Given the description of an element on the screen output the (x, y) to click on. 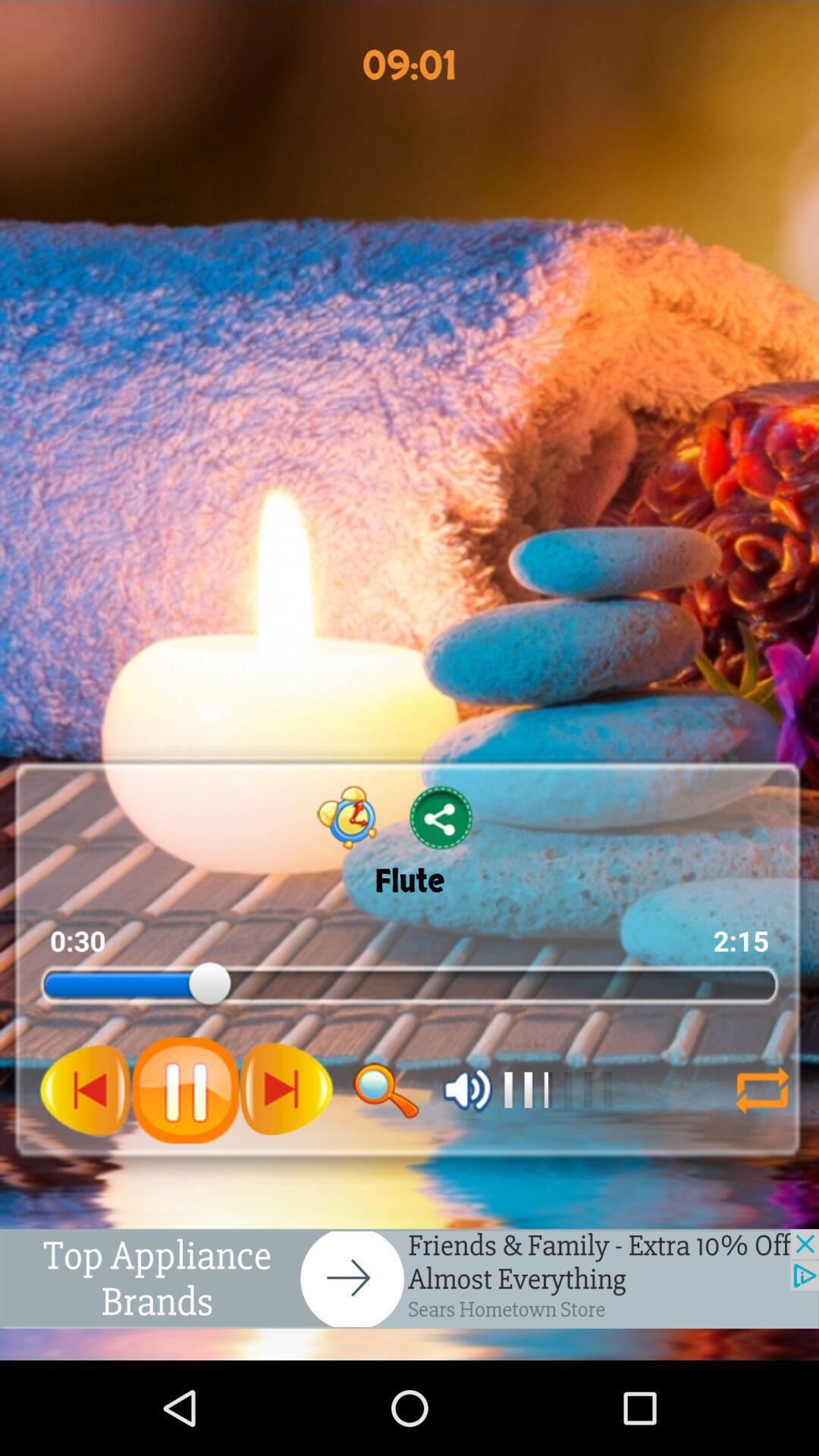
change audio volume (467, 1089)
